Given the description of an element on the screen output the (x, y) to click on. 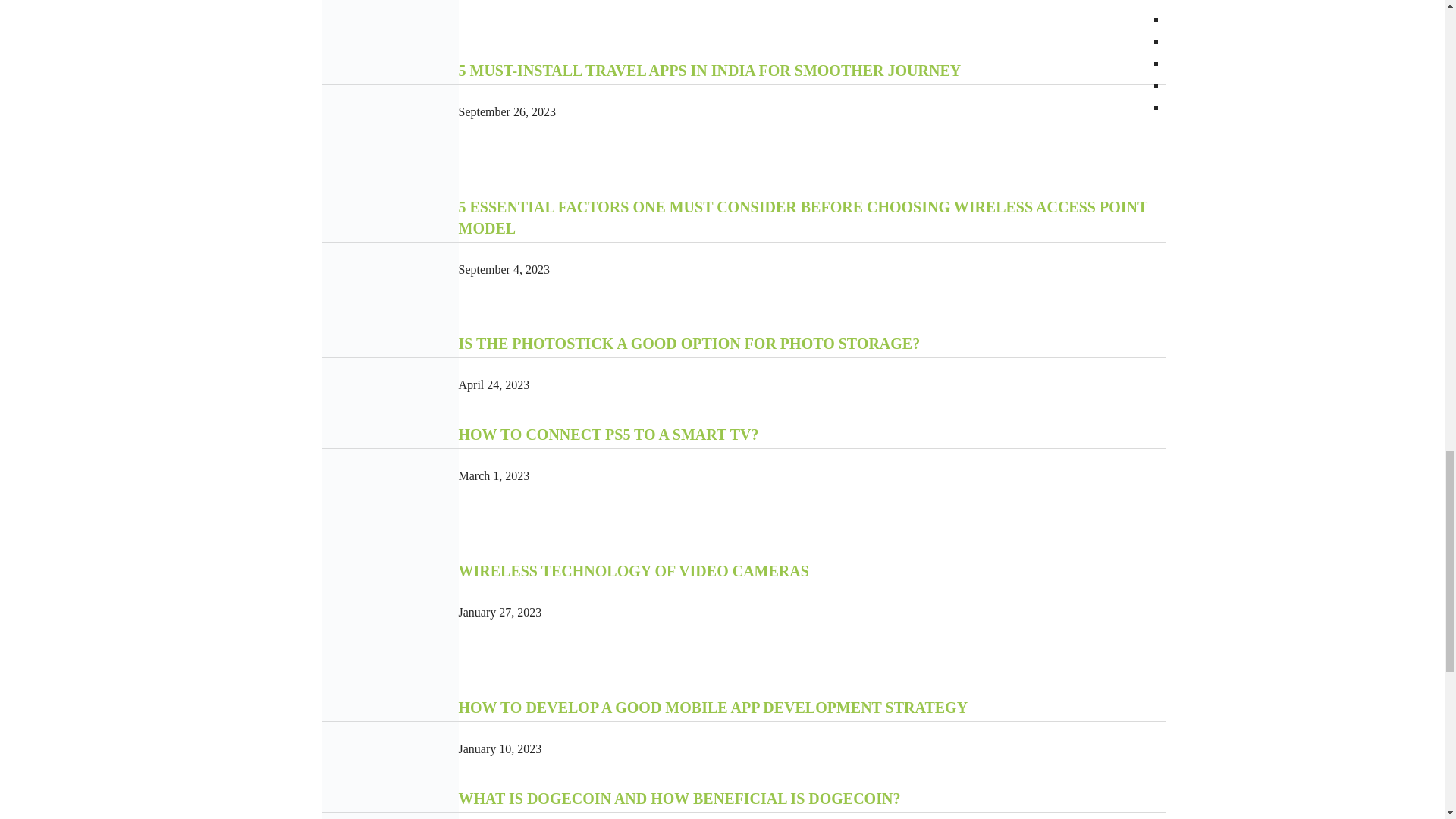
USB Data Recovery Canada: Recovering Your Lost Data (389, 29)
5 Must-Install Travel Apps in India for Smoother Journey (389, 127)
5 MUST-INSTALL TRAVEL APPS IN INDIA FOR SMOOTHER JOURNEY (709, 70)
IS THE PHOTOSTICK A GOOD OPTION FOR PHOTO STORAGE? (689, 343)
